Given the description of an element on the screen output the (x, y) to click on. 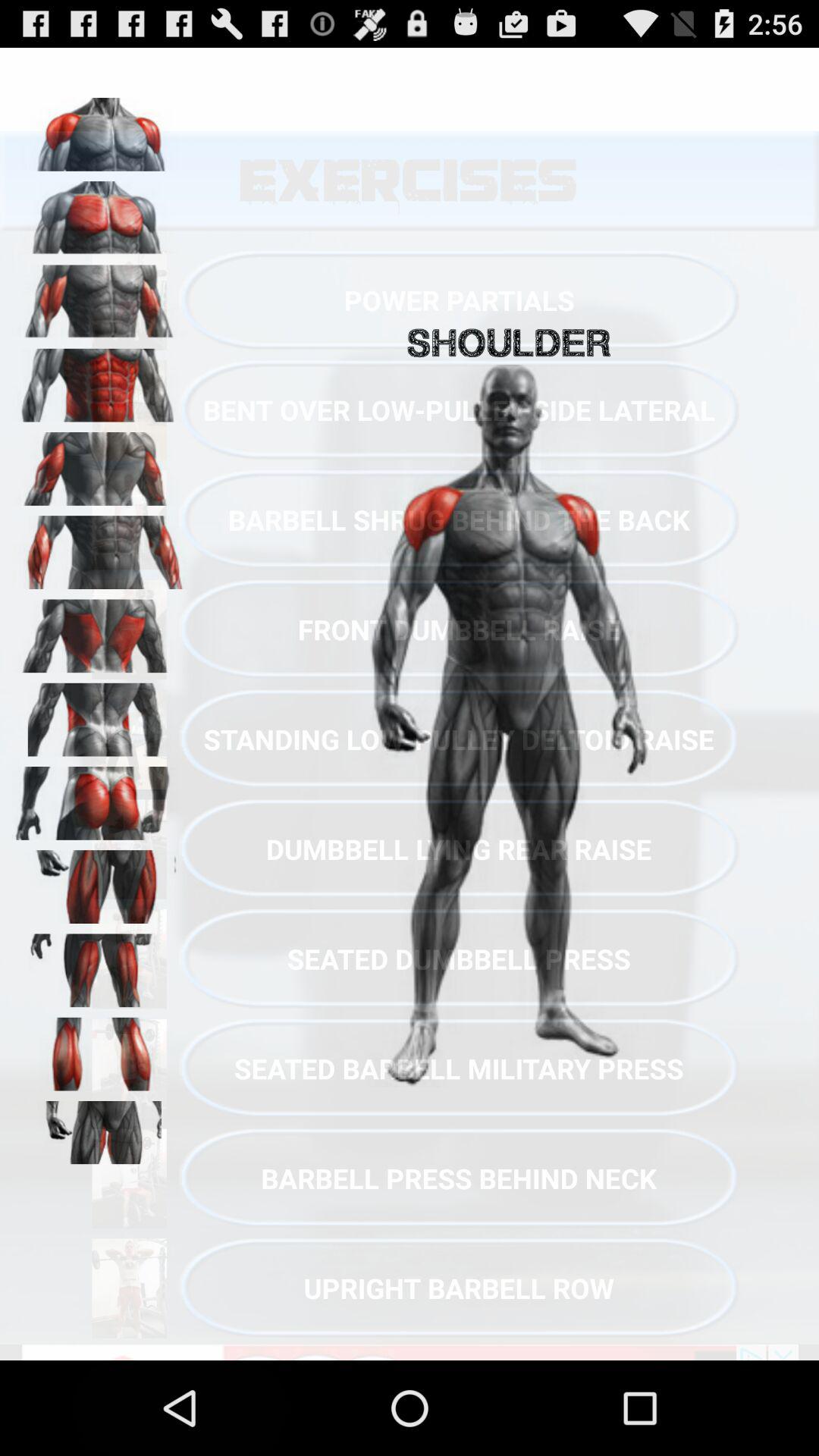
select option (99, 463)
